Given the description of an element on the screen output the (x, y) to click on. 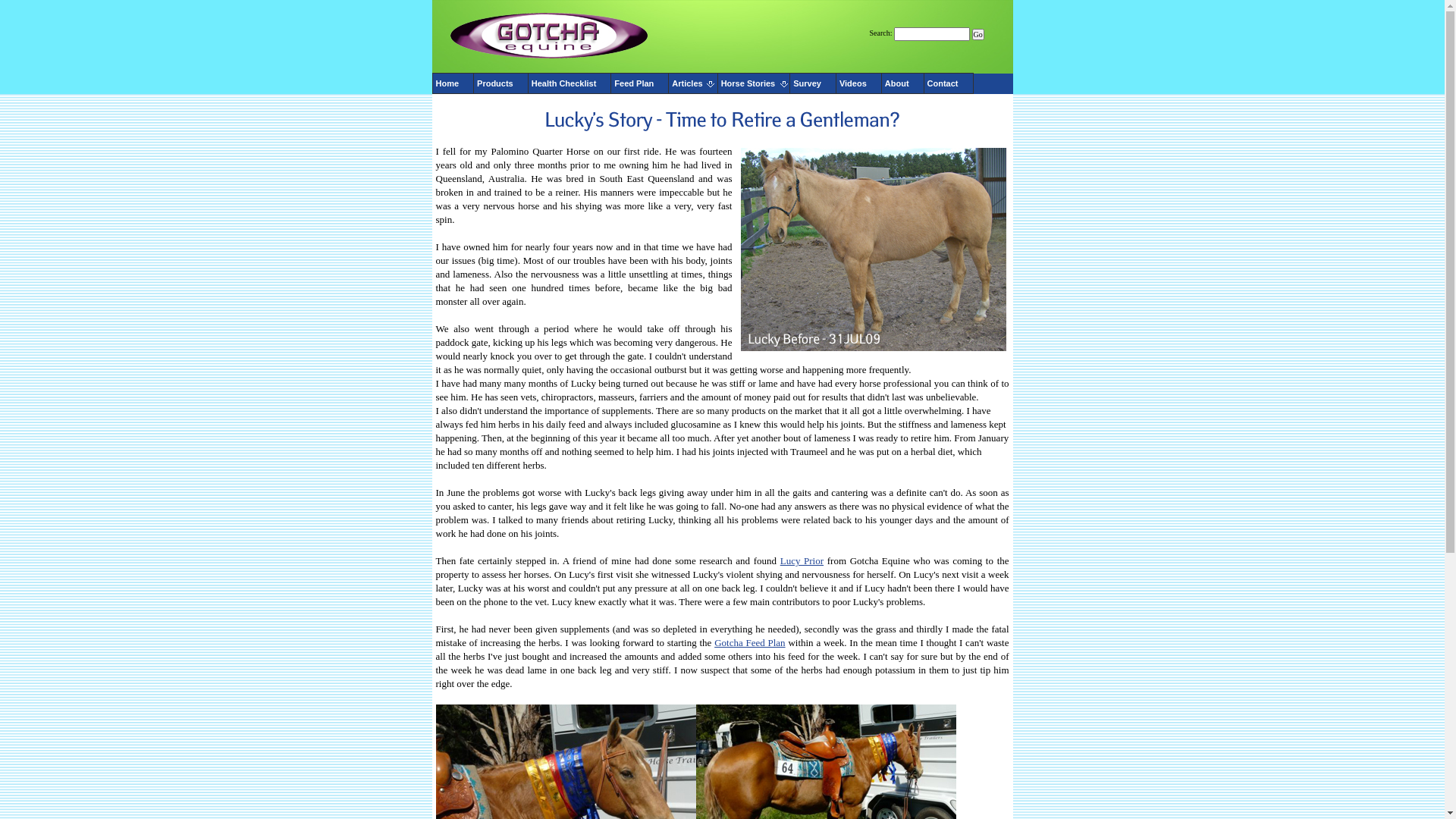
Videos Element type: text (858, 83)
Lucy Prior Element type: text (801, 561)
Health Checklist Element type: text (569, 83)
Products Element type: text (500, 83)
About Element type: text (902, 83)
Horse Stories Element type: text (753, 83)
Articles Element type: text (692, 83)
Survey Element type: text (812, 83)
Feed Plan Element type: text (639, 83)
Home Element type: text (453, 83)
Contact Element type: text (948, 83)
Go Element type: text (978, 34)
Gotcha Feed Plan Element type: text (749, 643)
